Given the description of an element on the screen output the (x, y) to click on. 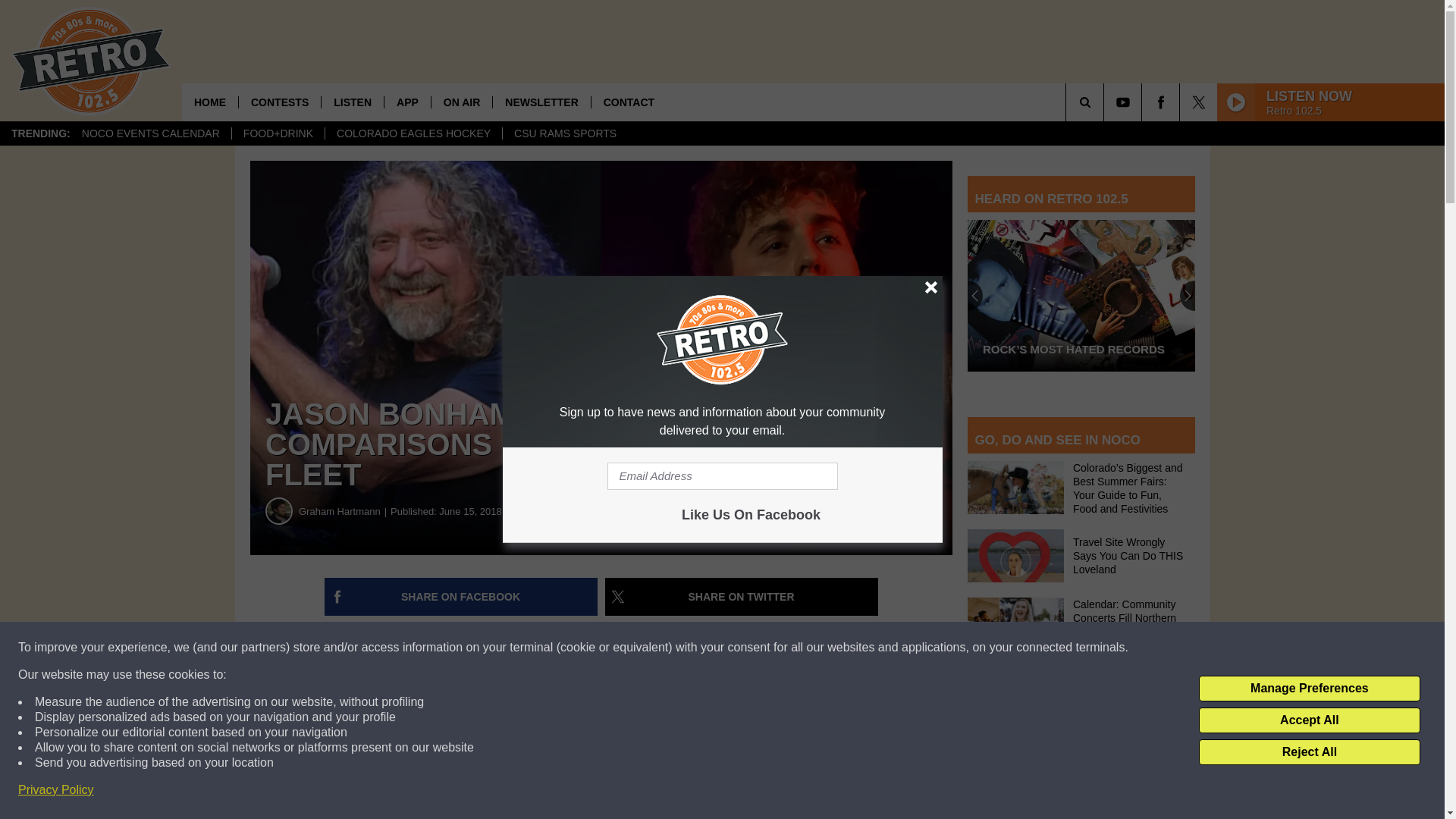
NOCO EVENTS CALENDAR (150, 133)
CONTACT (628, 102)
Email Address (722, 475)
HOME (210, 102)
Share on Facebook (460, 596)
APP (407, 102)
CONTESTS (279, 102)
ON AIR (461, 102)
LISTEN (352, 102)
SEARCH (1106, 102)
Accept All (1309, 720)
CSU RAMS SPORTS (564, 133)
NEWSLETTER (540, 102)
Manage Preferences (1309, 688)
Reject All (1309, 751)
